Given the description of an element on the screen output the (x, y) to click on. 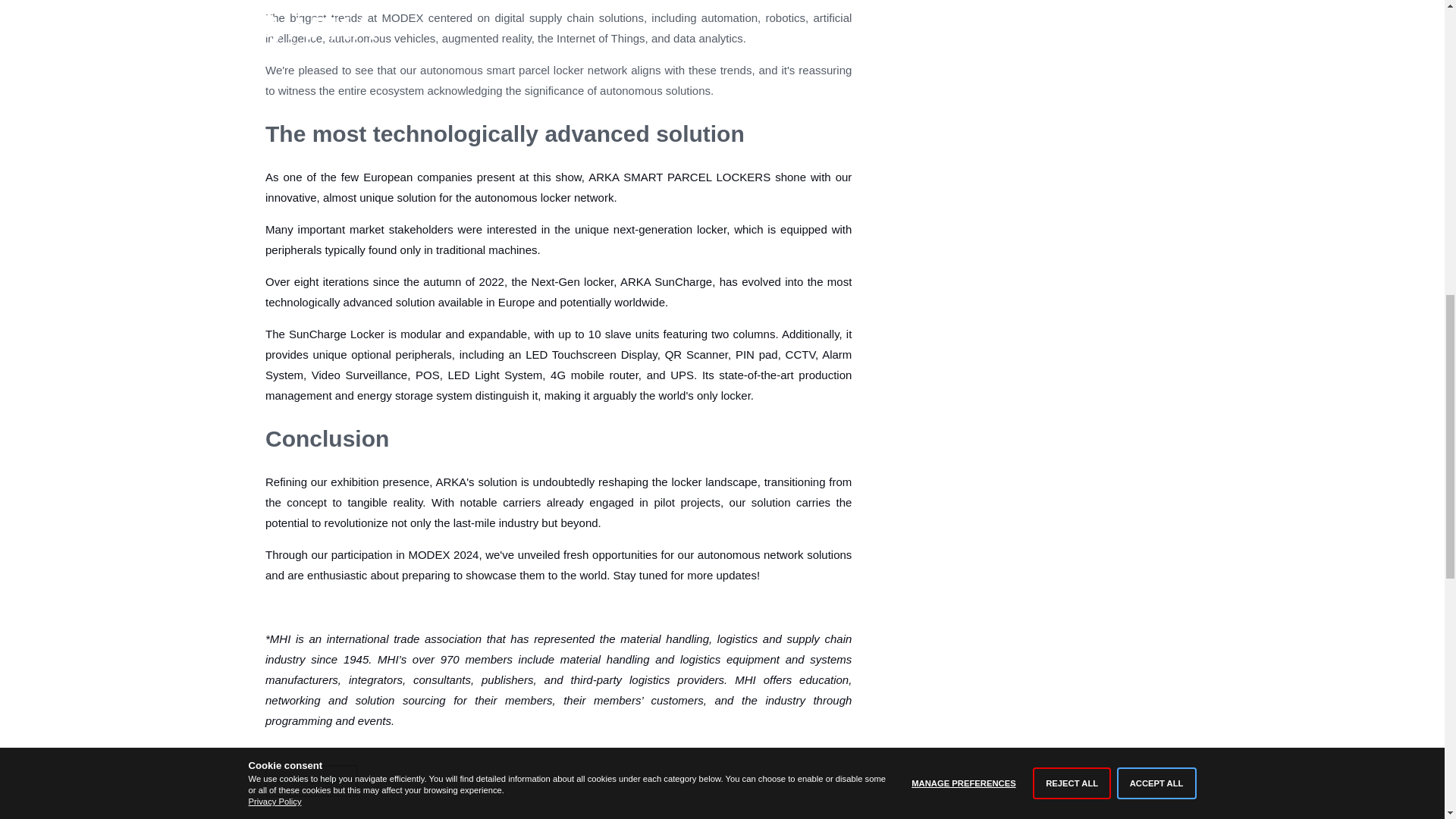
BACK TO NEWS (311, 780)
